Given the description of an element on the screen output the (x, y) to click on. 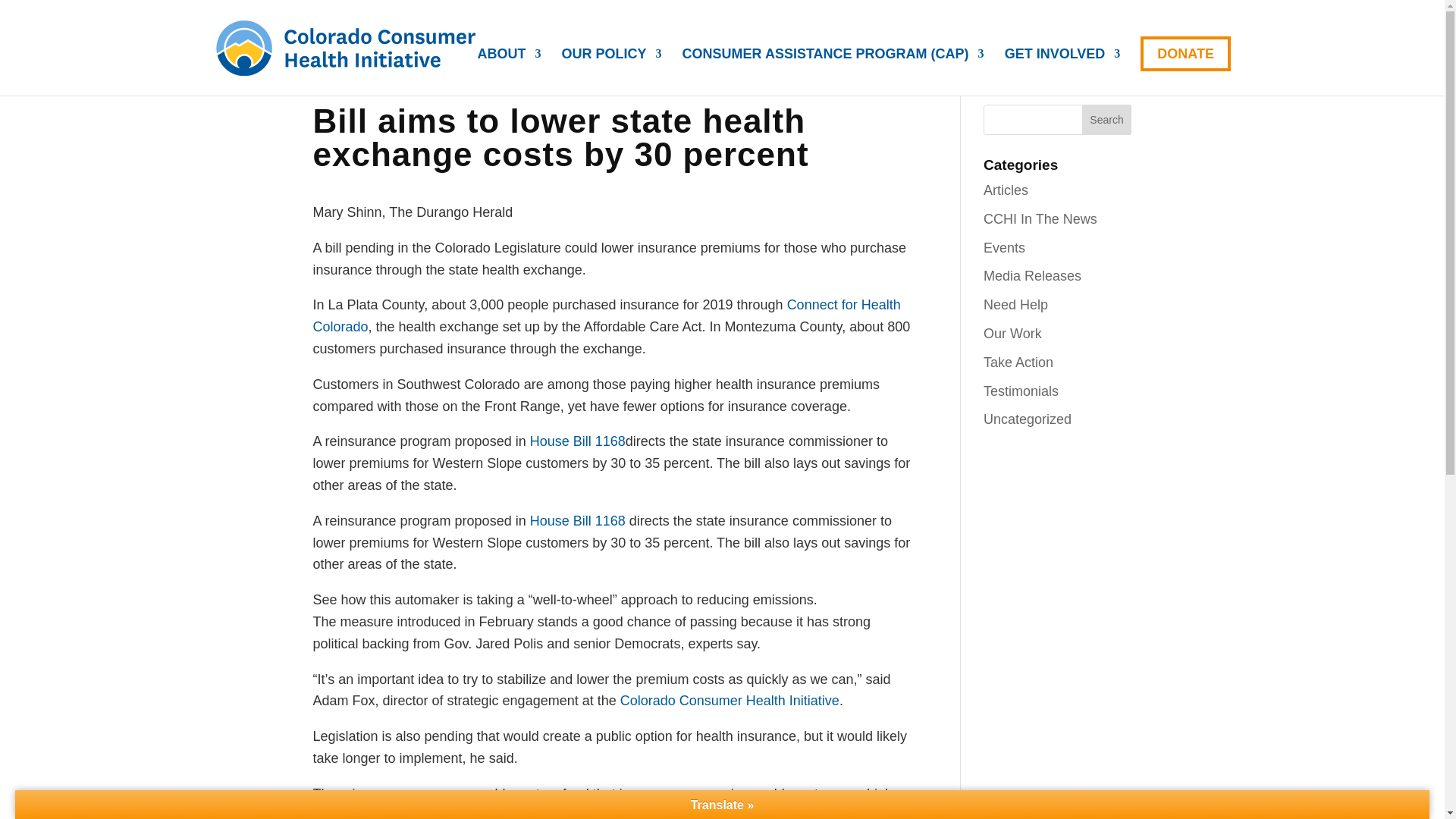
OUR POLICY (612, 71)
ABOUT (509, 71)
House Bill 1168 (577, 520)
Connect for Health Colorado (606, 315)
GET INVOLVED (1062, 71)
DONATE (1184, 53)
Events (1004, 247)
House Bill 1168 (577, 441)
Need Help (1016, 304)
Articles (1005, 190)
